Given the description of an element on the screen output the (x, y) to click on. 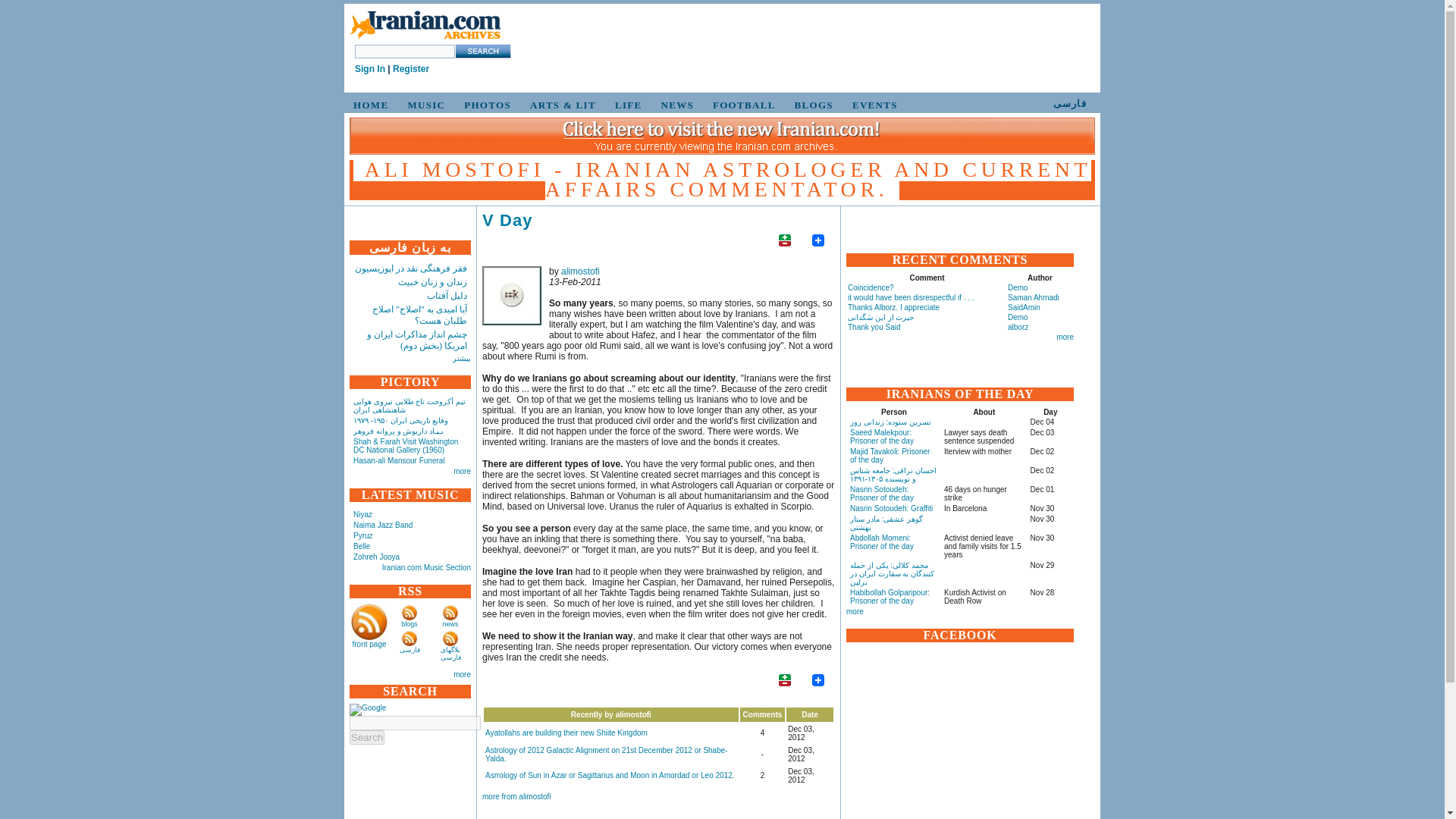
Search this Site (483, 51)
Naima Jazz Band (382, 524)
PHOTOS (484, 105)
Hasan-ali Mansour Funeral (399, 460)
LIFE (625, 105)
Pyruz (362, 535)
EVENTS (872, 105)
Google (367, 709)
news (450, 623)
blogs (409, 623)
BLOGS (812, 105)
Belle (361, 546)
more (461, 470)
Sign In (370, 68)
Search (366, 737)
